Given the description of an element on the screen output the (x, y) to click on. 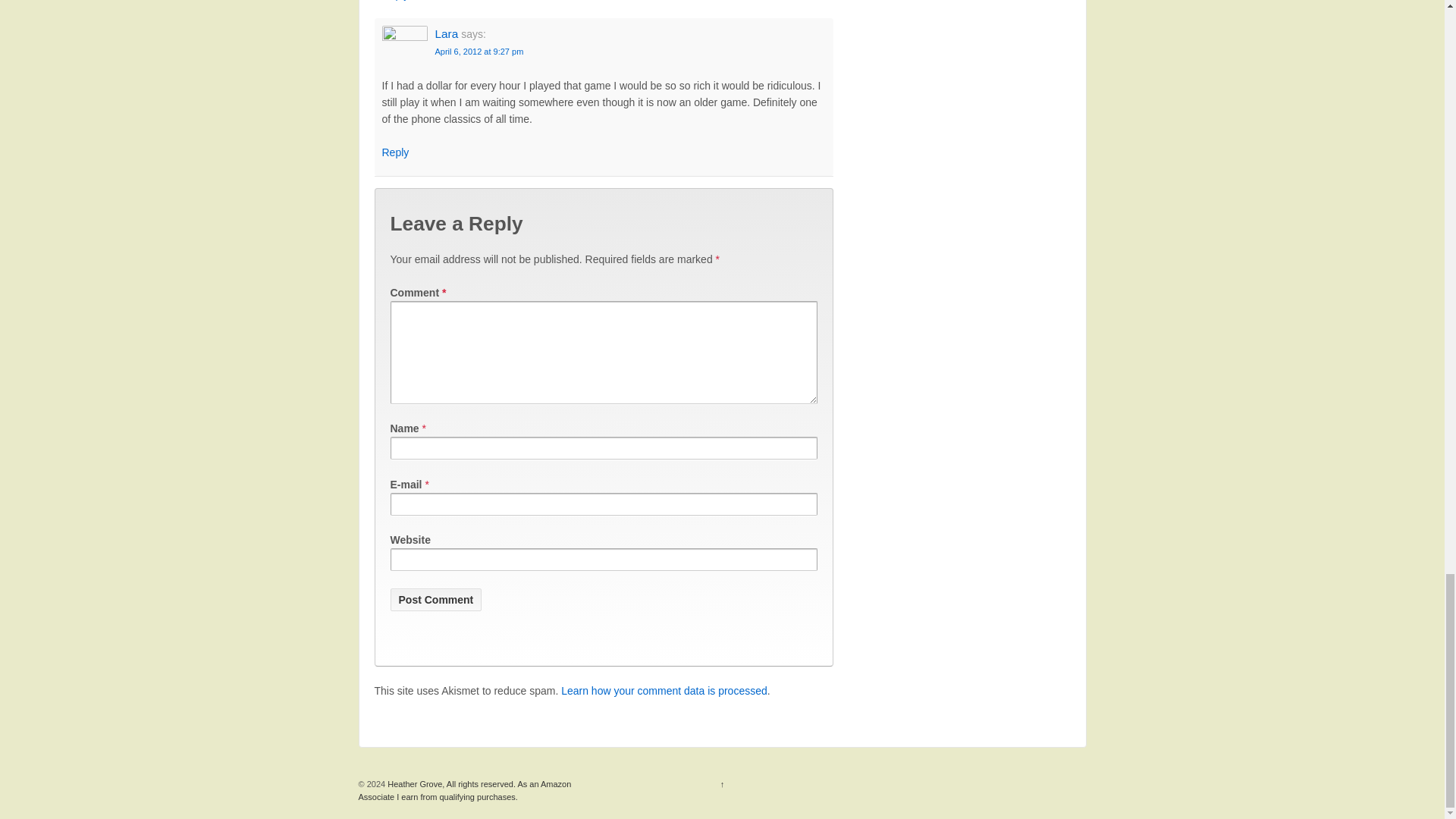
April 6, 2012 at 9:27 pm (479, 51)
Lara (446, 33)
Learn how your comment data is processed (663, 690)
Post Comment (435, 599)
Post Comment (435, 599)
Reply (395, 152)
